Given the description of an element on the screen output the (x, y) to click on. 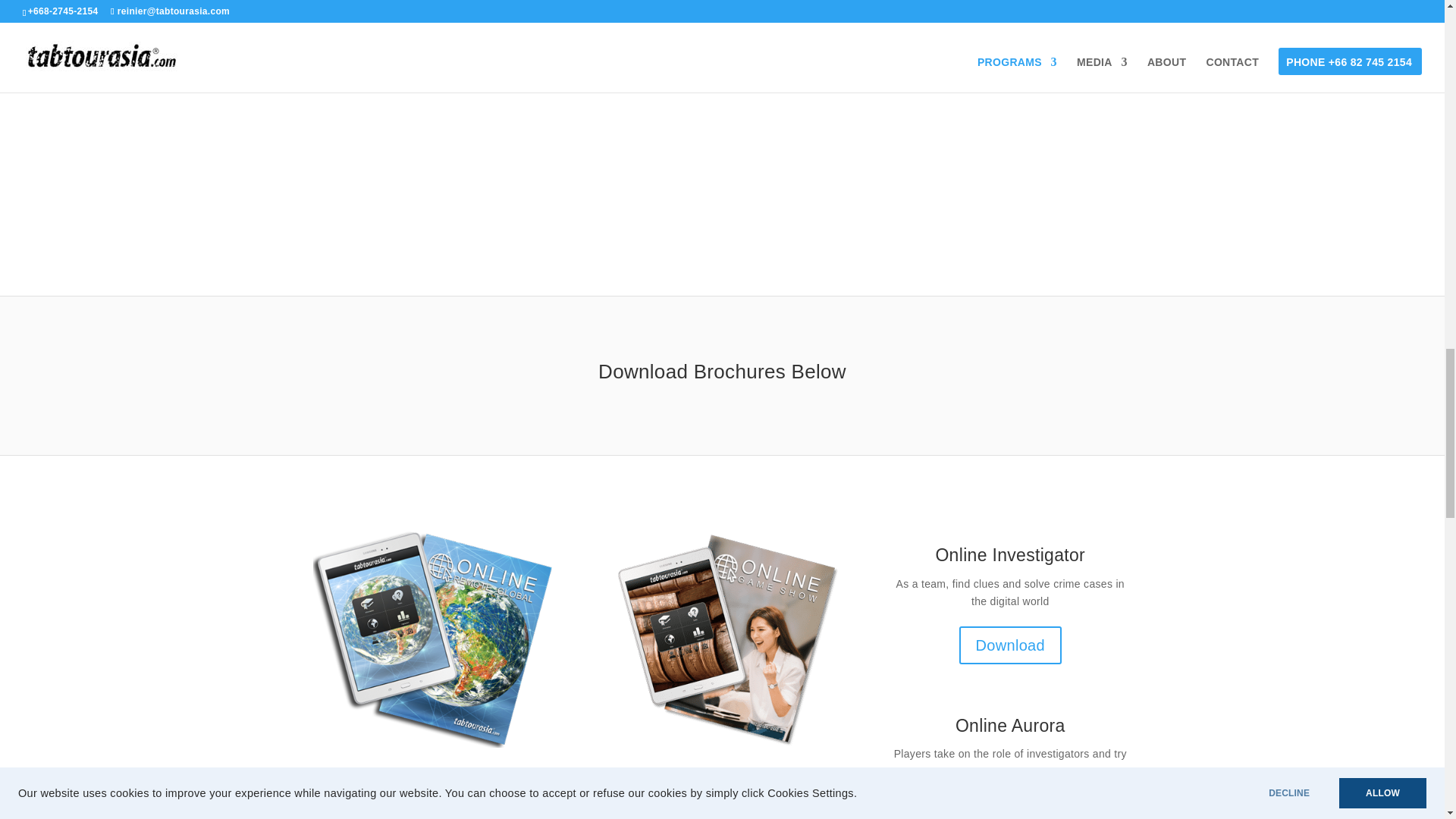
online-remote-global-full-cover-website-400x400-png (433, 638)
Download (1010, 807)
Download (1010, 645)
